Given the description of an element on the screen output the (x, y) to click on. 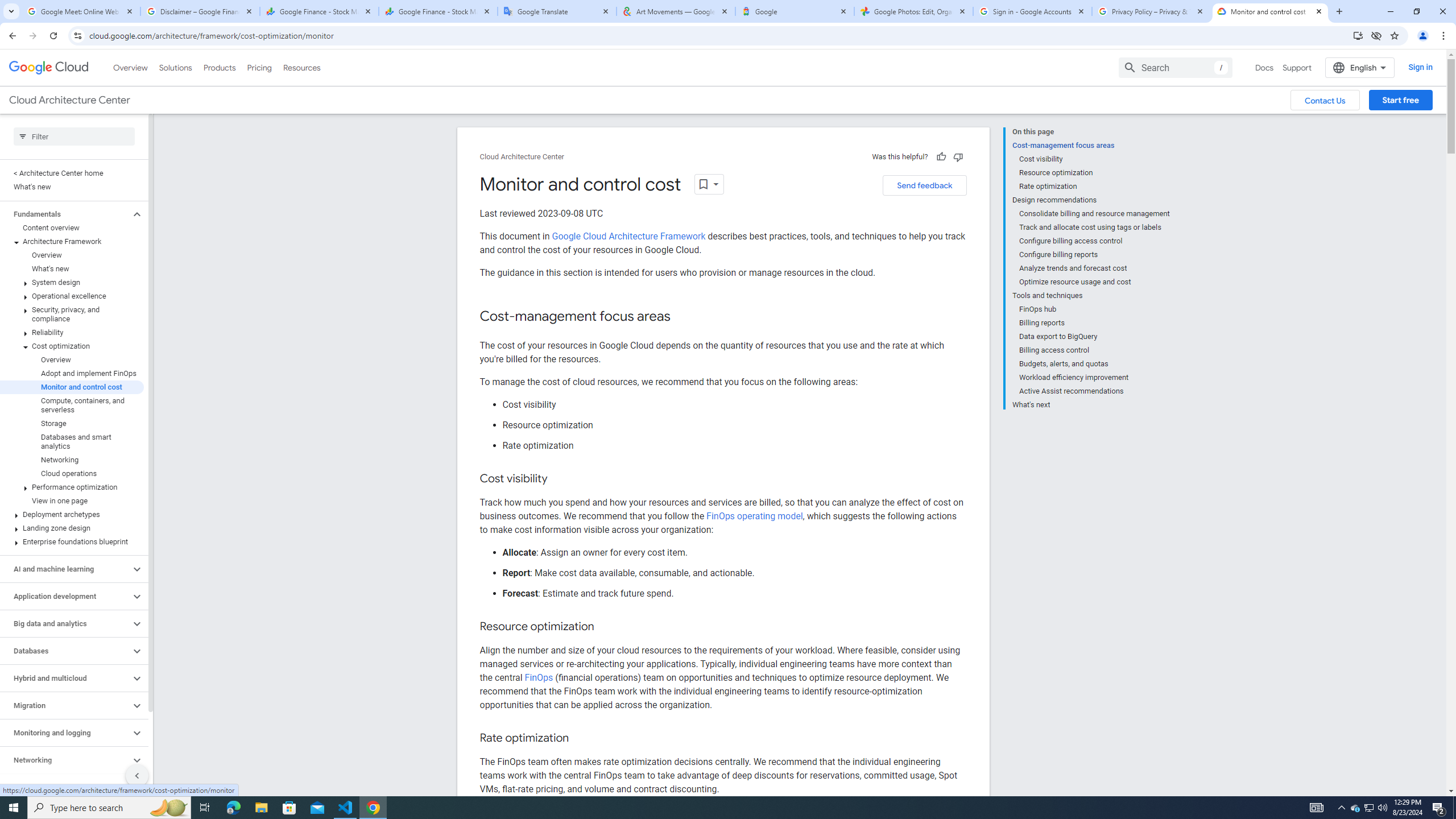
Helpful (940, 156)
Configure billing access control (1094, 241)
Tools and techniques (1090, 295)
Compute, containers, and serverless (72, 404)
Google Translate (556, 11)
Resource optimization (1094, 172)
Enterprise foundations blueprint (72, 541)
Performance optimization (72, 486)
Adopt and implement FinOps (72, 373)
Billing access control (1094, 350)
Architecture Framework (72, 241)
What's new (72, 269)
